Given the description of an element on the screen output the (x, y) to click on. 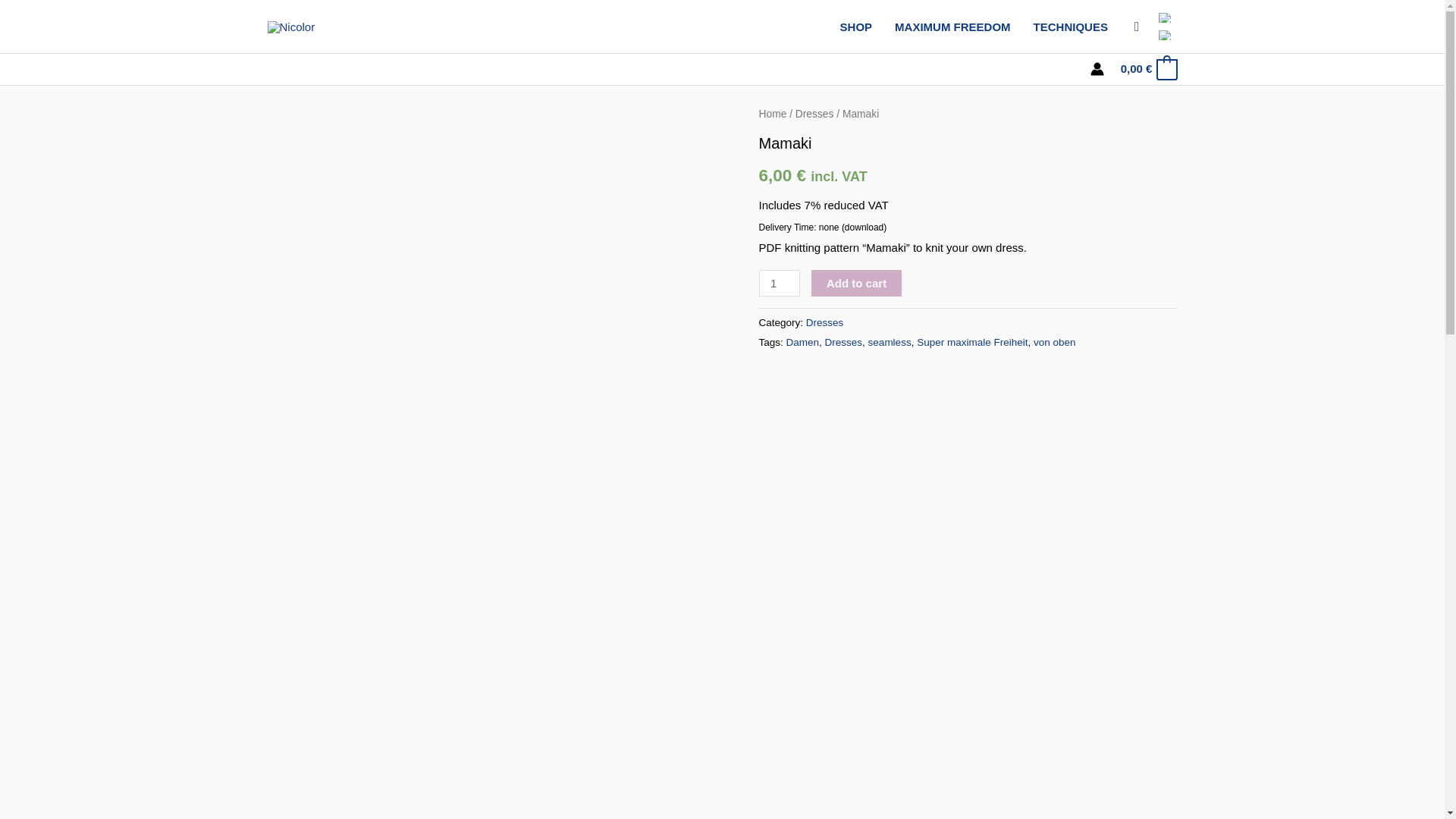
TECHNIQUES (1070, 26)
SHOP (855, 26)
MAXIMUM FREEDOM (952, 26)
1 (778, 283)
